Given the description of an element on the screen output the (x, y) to click on. 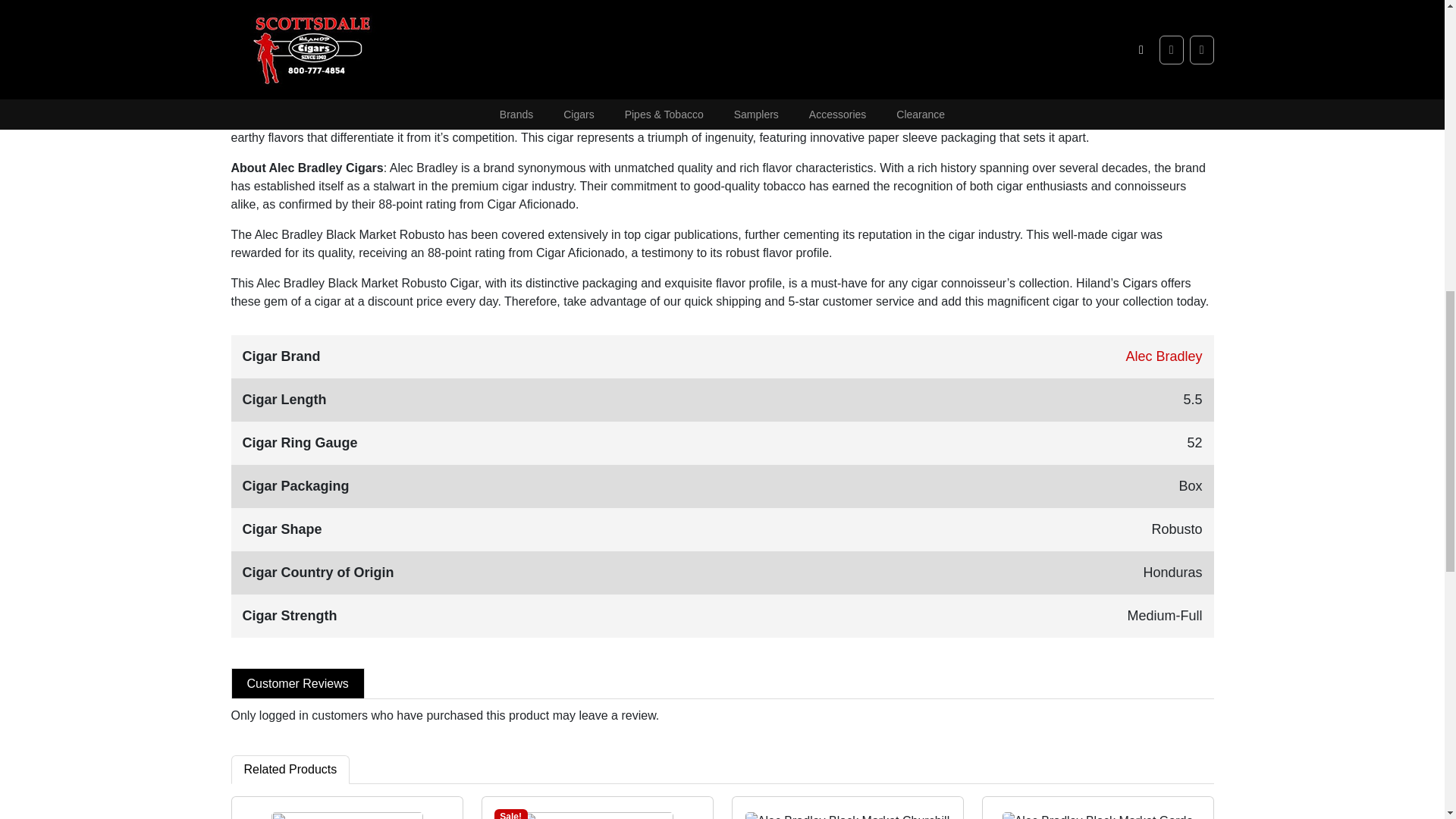
Alec Bradley (1163, 355)
Description (275, 12)
More Information (382, 12)
